Given the description of an element on the screen output the (x, y) to click on. 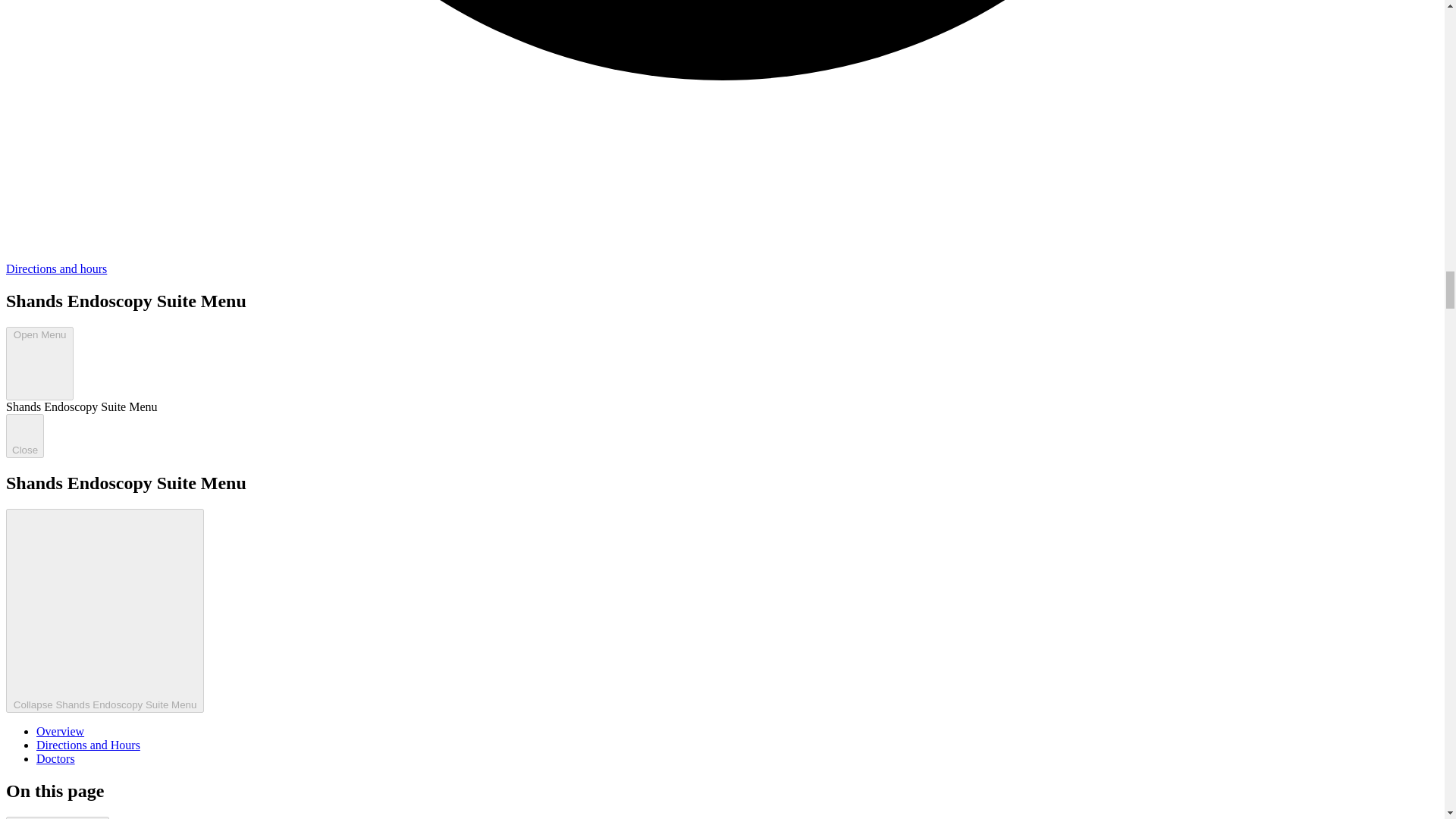
Open Menu (39, 363)
Directions and hours (55, 268)
Directions and Hours (87, 744)
Collapse navigation (57, 817)
Overview (60, 730)
Doctors (55, 758)
Collapse Shands Endoscopy Suite Menu (104, 610)
